Given the description of an element on the screen output the (x, y) to click on. 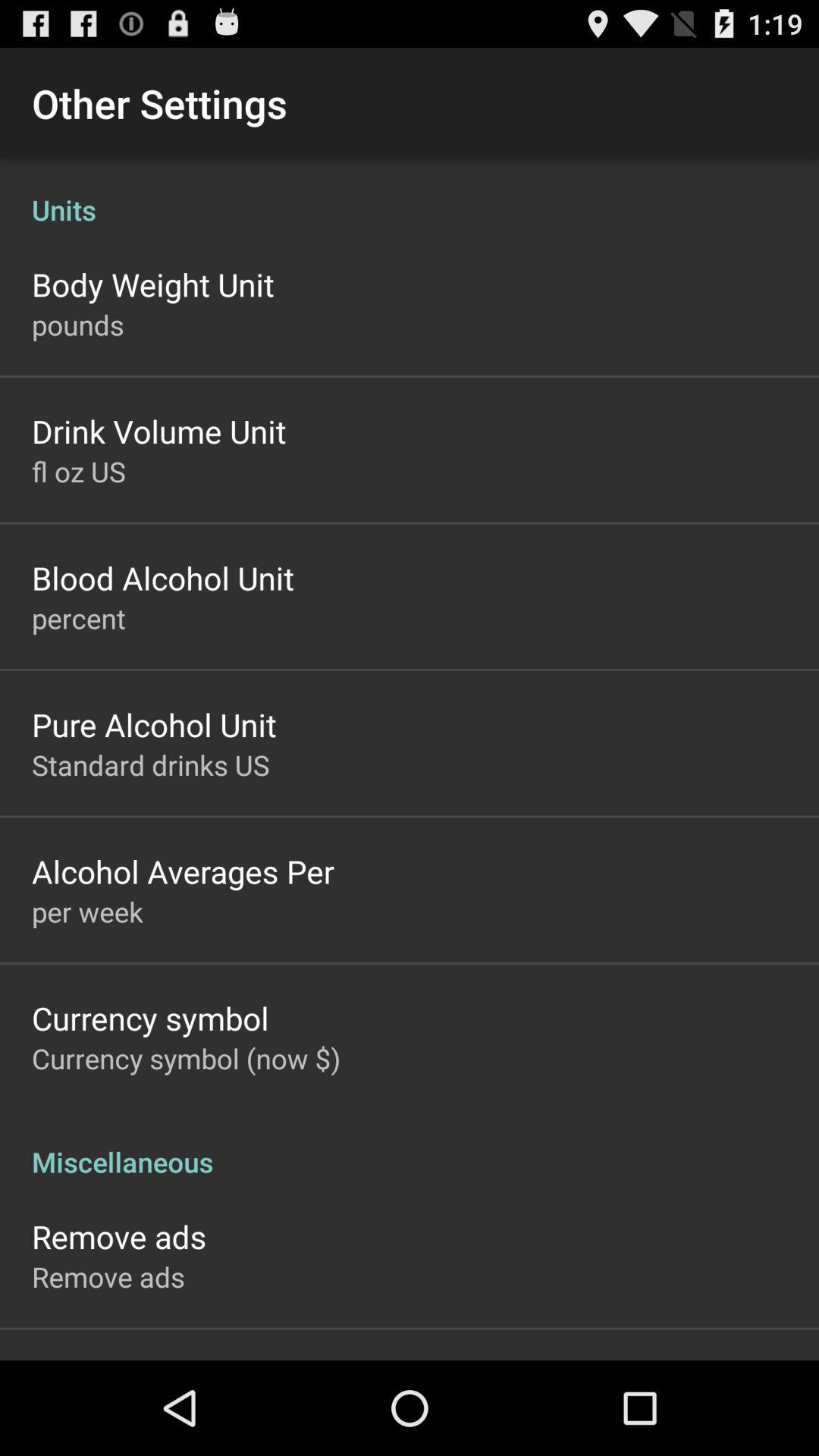
scroll to miscellaneous (409, 1145)
